Given the description of an element on the screen output the (x, y) to click on. 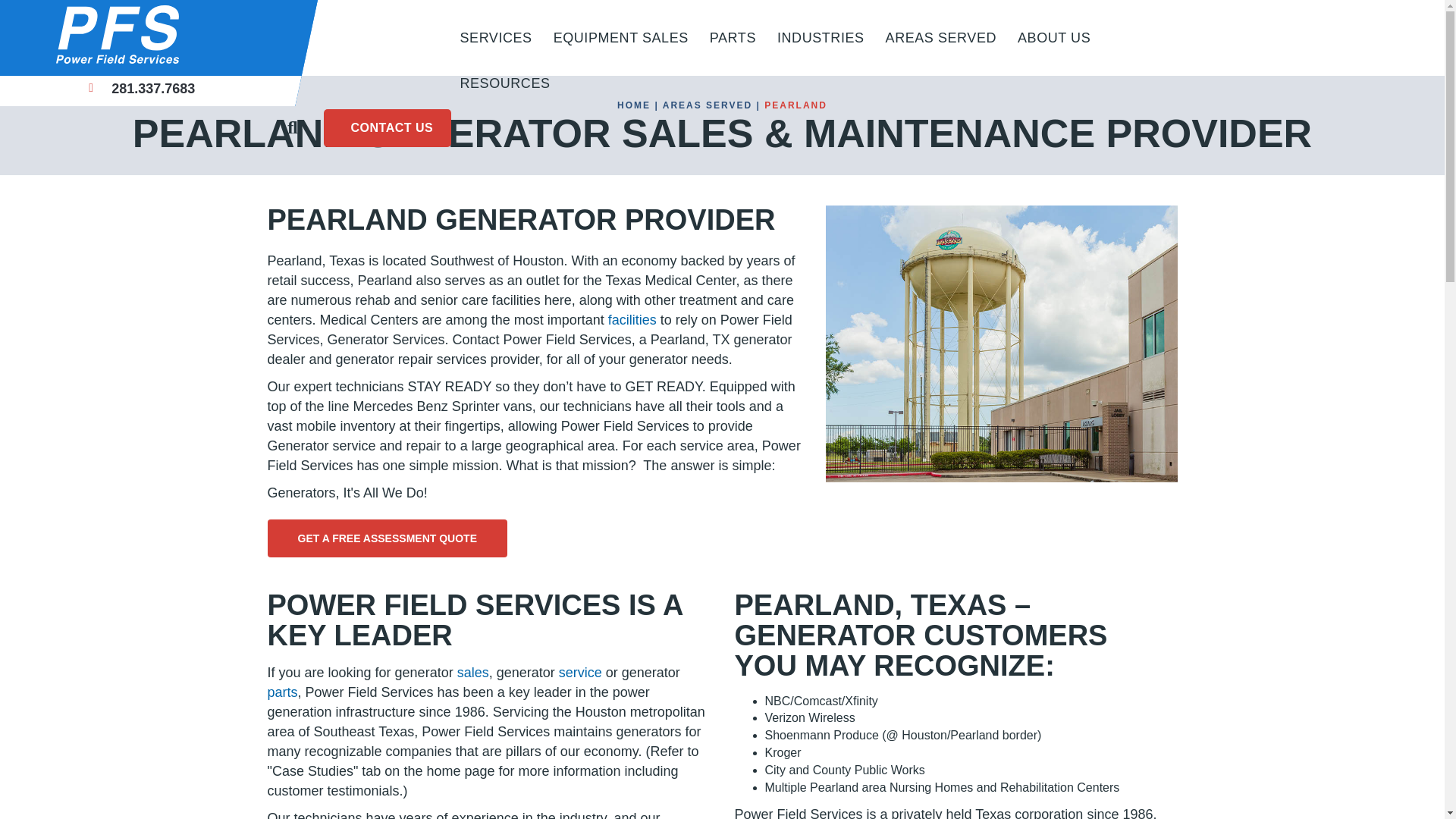
SERVICES (494, 37)
RESOURCES (504, 83)
EQUIPMENT SALES (620, 37)
PARTS (732, 37)
AREAS SERVED (941, 37)
Home - Power Field Services (132, 33)
ABOUT US (1053, 37)
INDUSTRIES (821, 37)
